Given the description of an element on the screen output the (x, y) to click on. 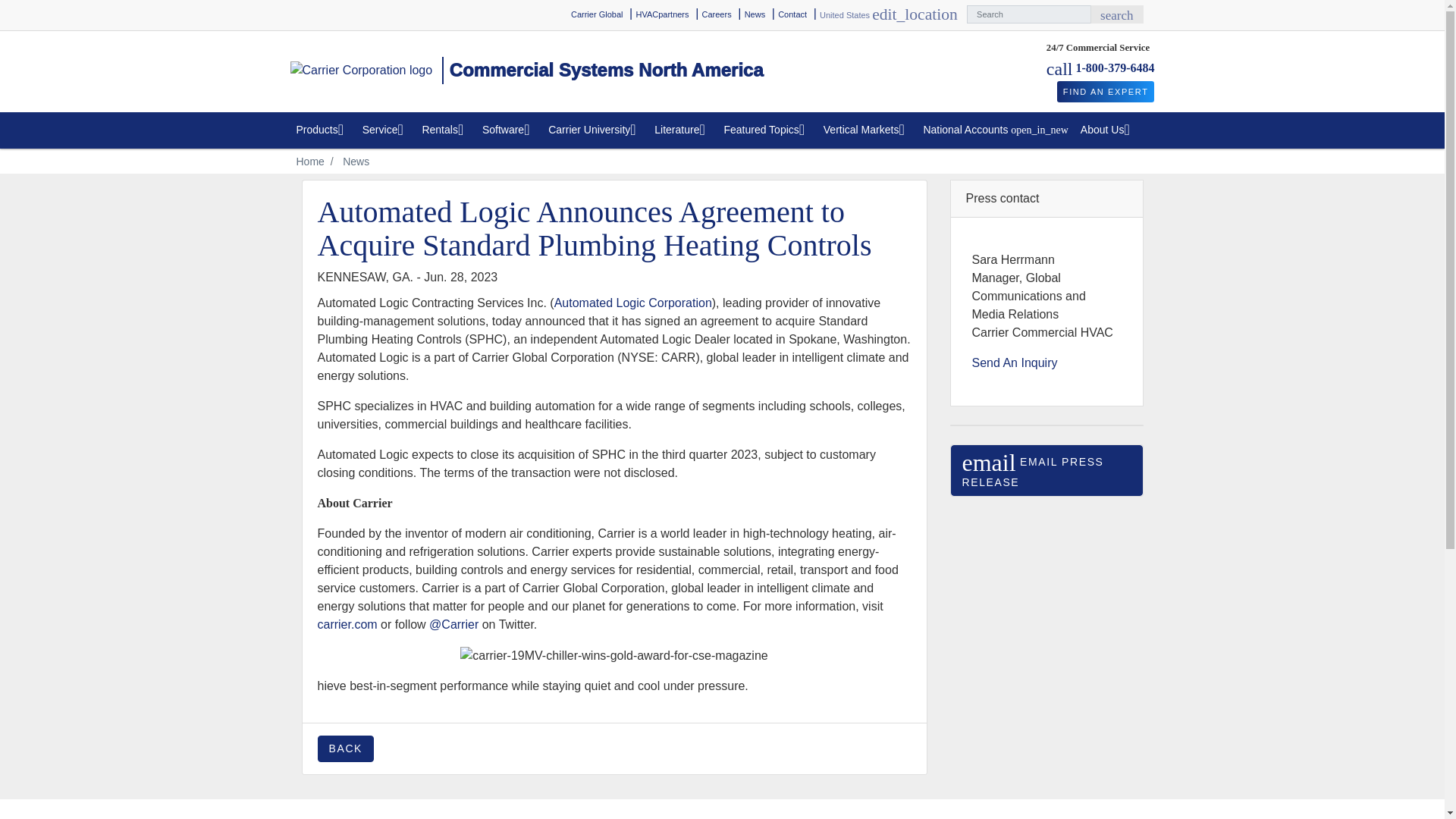
Contact (791, 14)
HVACpartners (1116, 13)
Products (661, 14)
Carrier Global (322, 129)
1-800-379-6484 (596, 14)
FIND AN EXPERT (1114, 67)
carrier-19MV-chiller-wins-gold-award-for-cse-magazine (1105, 92)
Careers (613, 656)
News (716, 14)
Commercial Systems North America (754, 14)
